Given the description of an element on the screen output the (x, y) to click on. 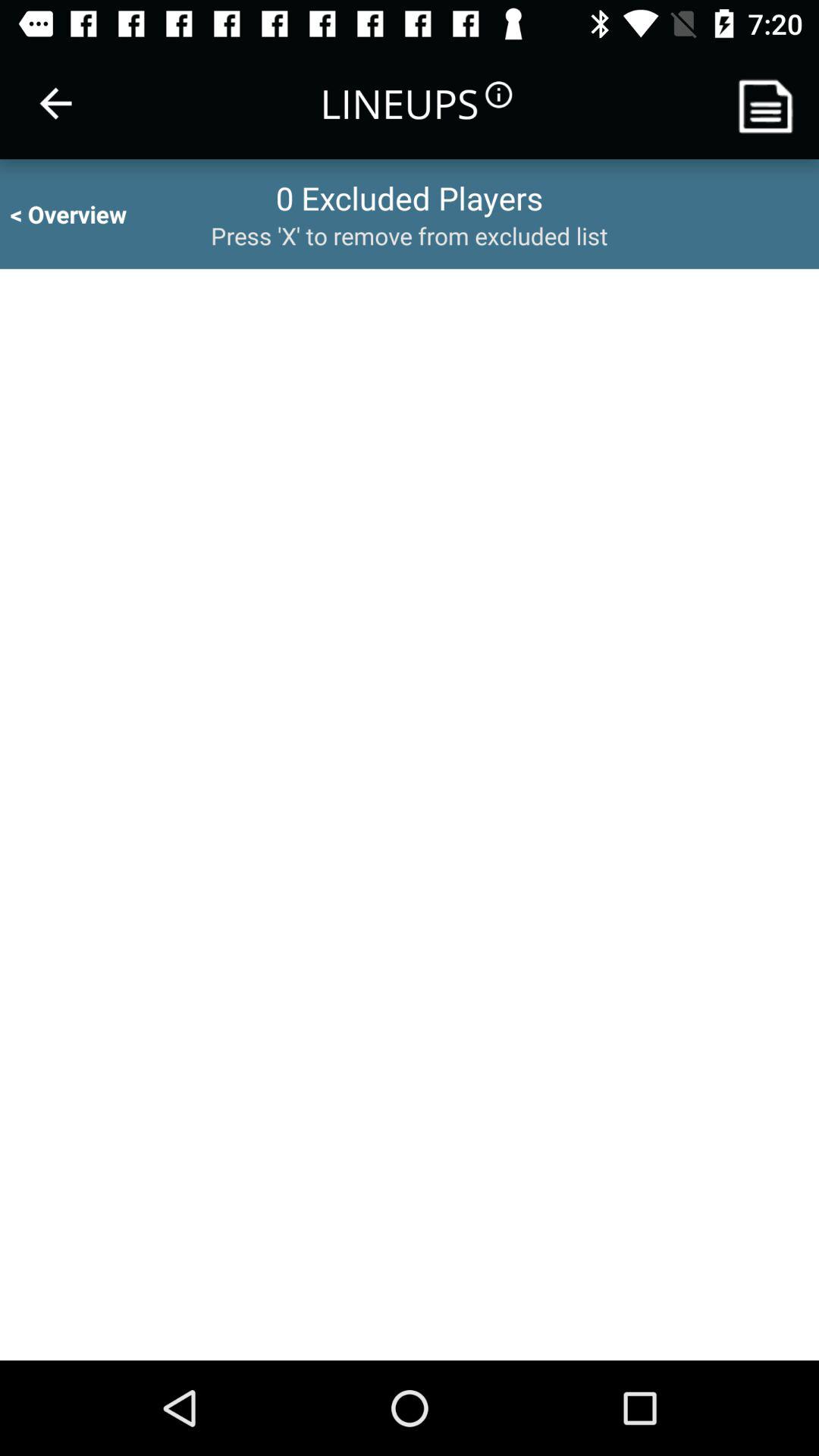
turn on item next to the 0 excluded players icon (81, 214)
